Given the description of an element on the screen output the (x, y) to click on. 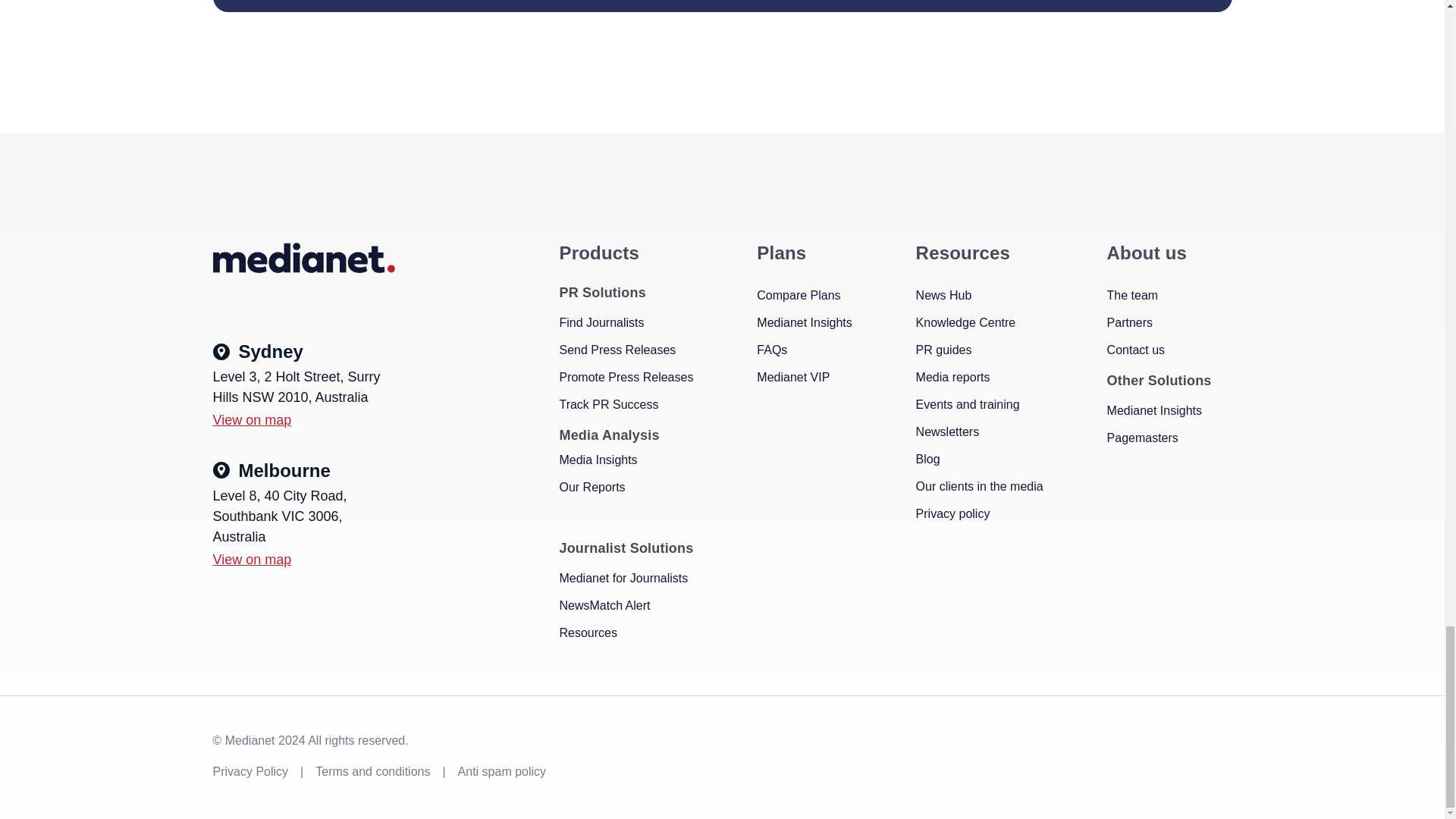
Map-Circle-Icon (220, 351)
Map-Circle-Icon (220, 469)
Medianet logo RGB 2020 (303, 257)
